Given the description of an element on the screen output the (x, y) to click on. 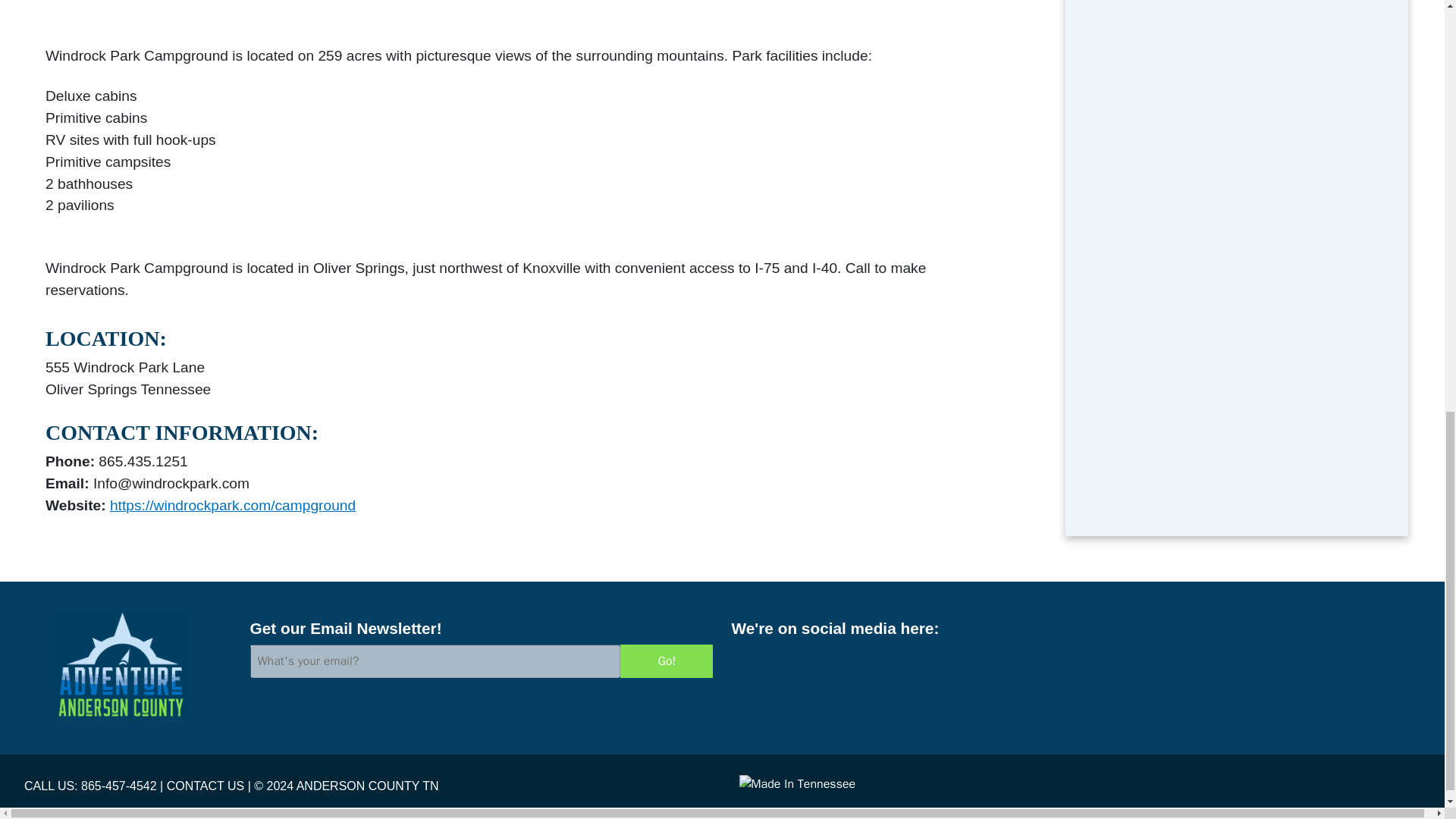
Go! (666, 661)
Go! (666, 661)
